Given the description of an element on the screen output the (x, y) to click on. 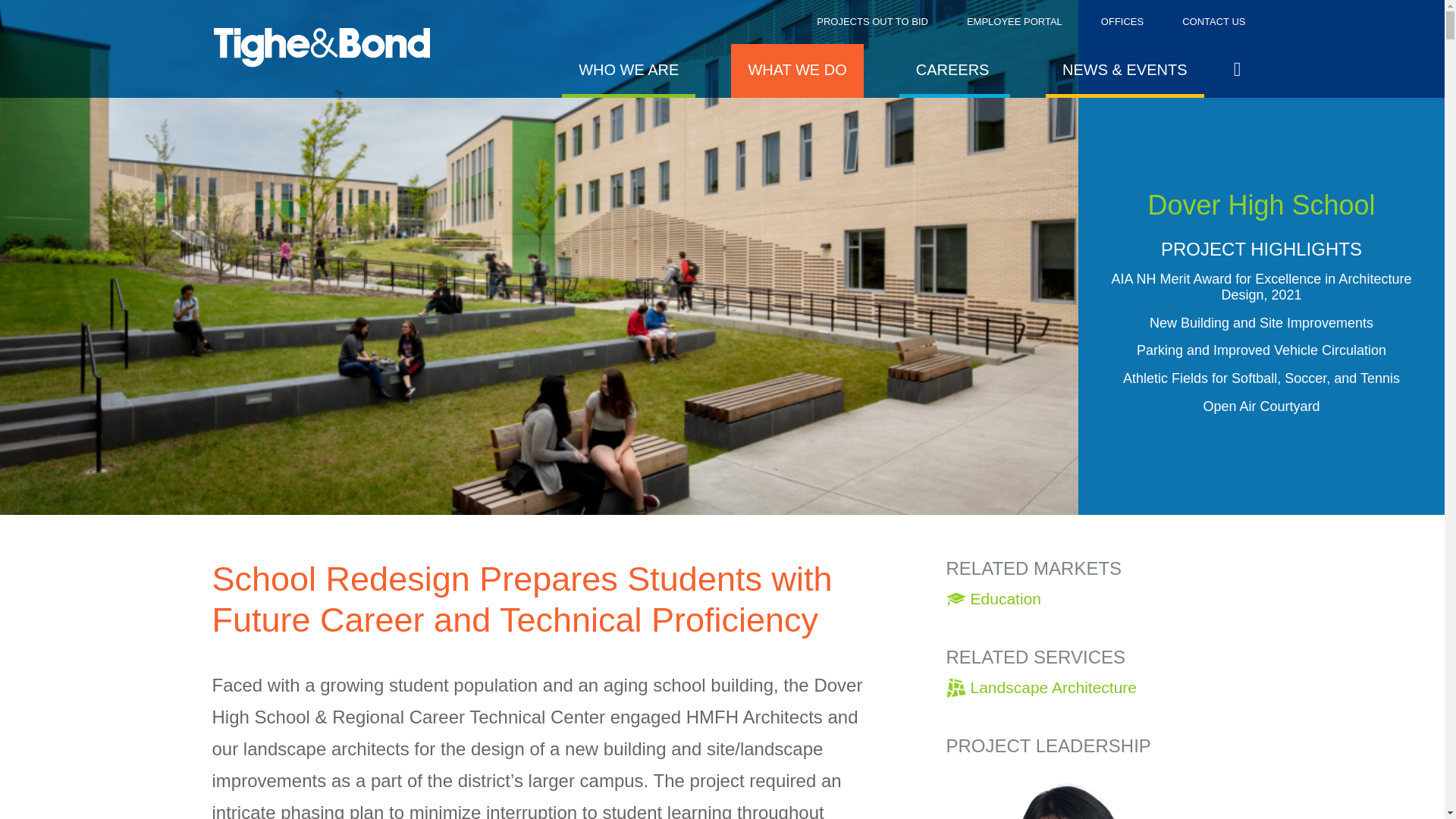
WHAT WE DO (796, 70)
CAREERS  (954, 70)
WHO WE ARE (628, 70)
